Given the description of an element on the screen output the (x, y) to click on. 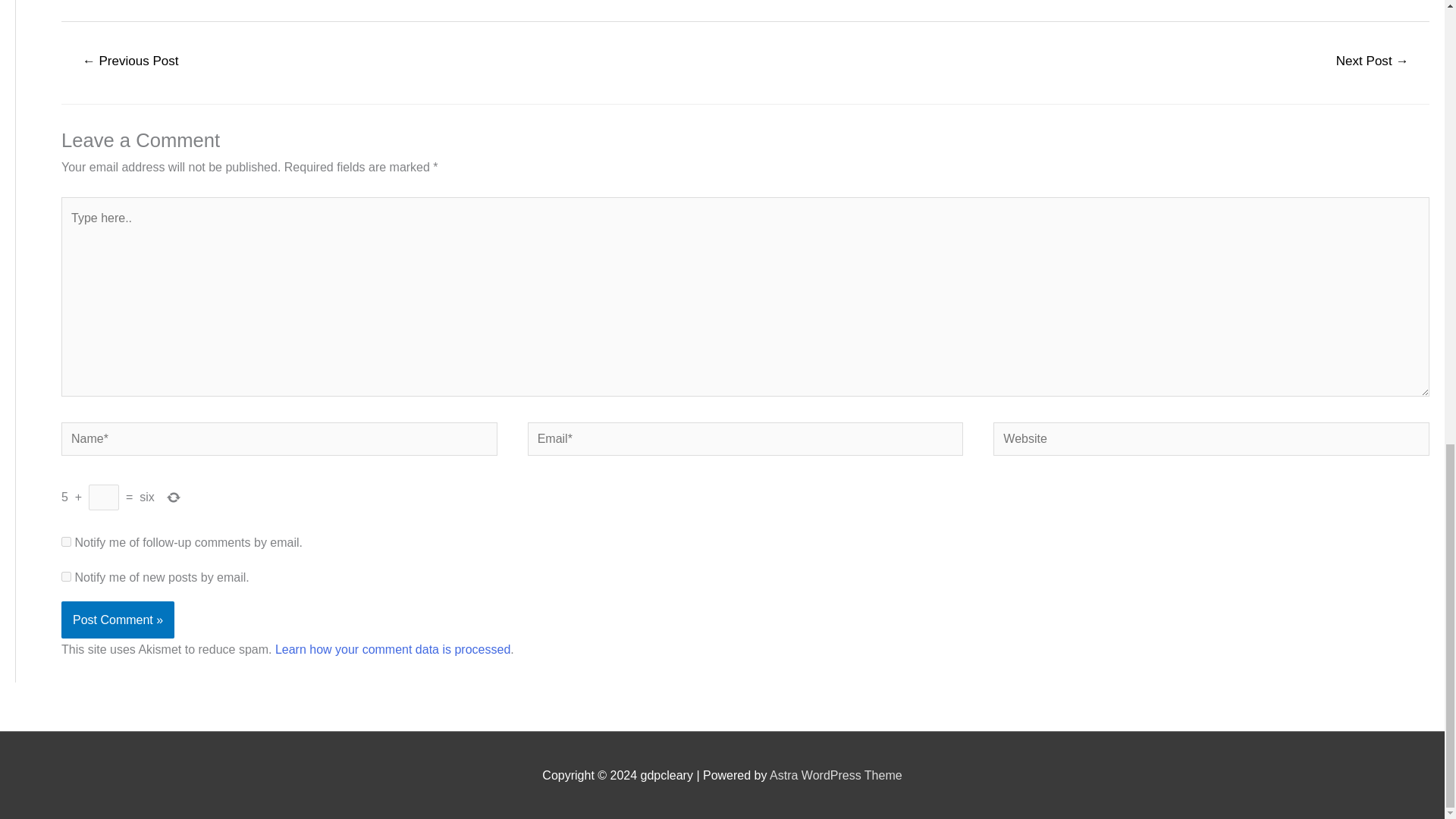
subscribe (66, 542)
subscribe (66, 576)
